Given the description of an element on the screen output the (x, y) to click on. 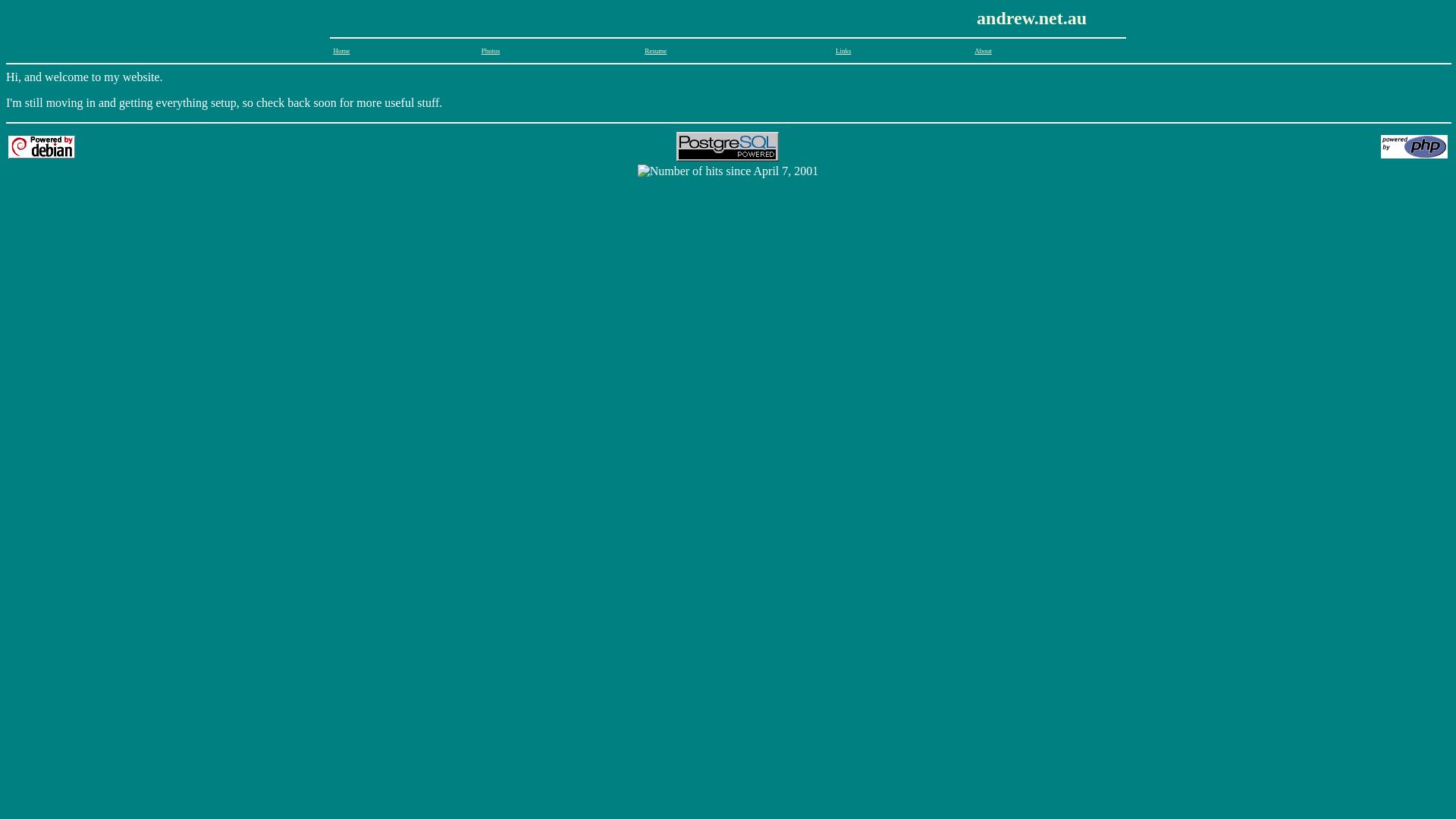
Links Element type: text (843, 50)
Photos Element type: text (490, 50)
Home Element type: text (340, 50)
About Element type: text (982, 50)
Resume Element type: text (655, 50)
